Given the description of an element on the screen output the (x, y) to click on. 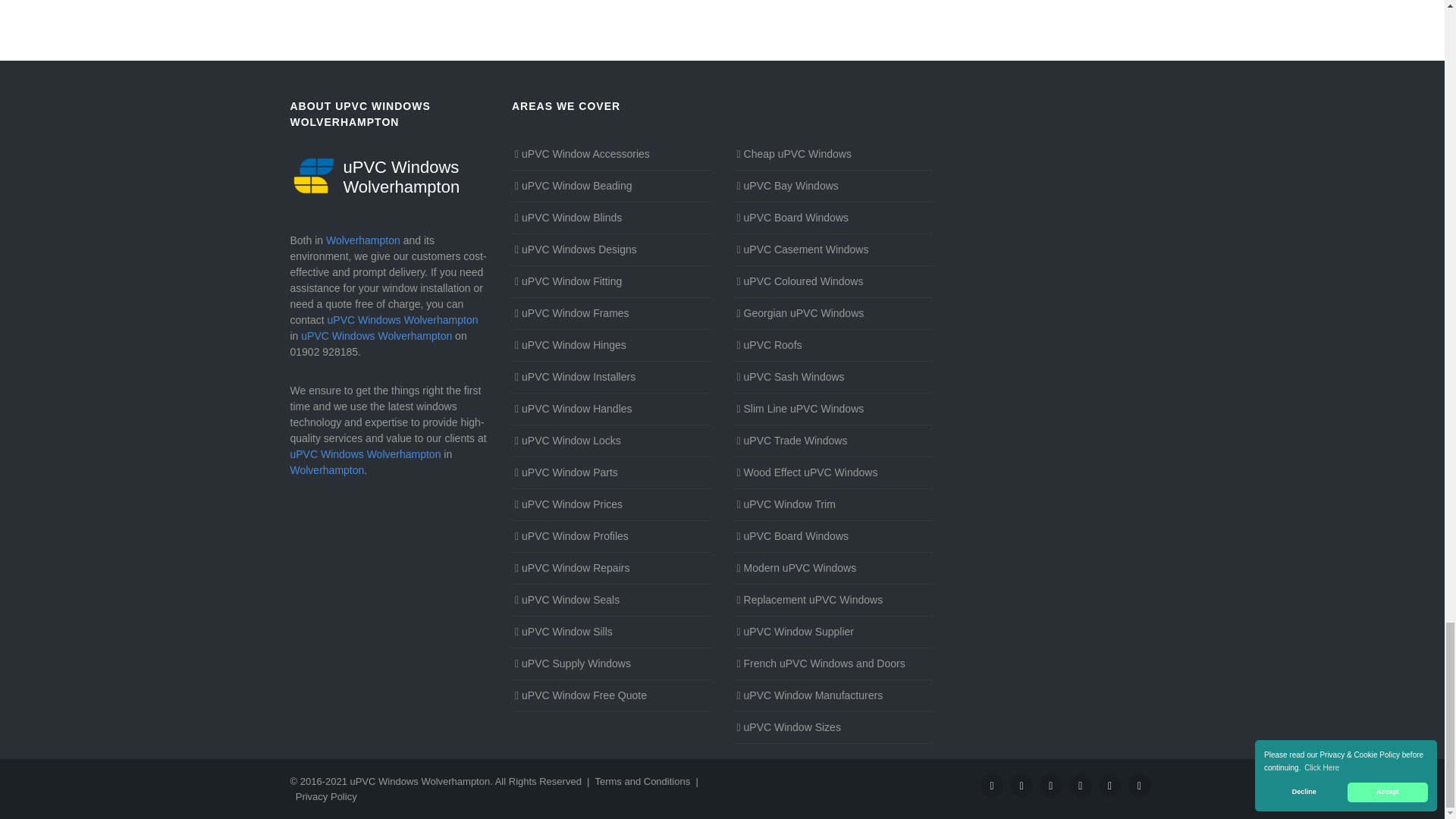
uPVC Windows Wolverhampton (389, 176)
